Given the description of an element on the screen output the (x, y) to click on. 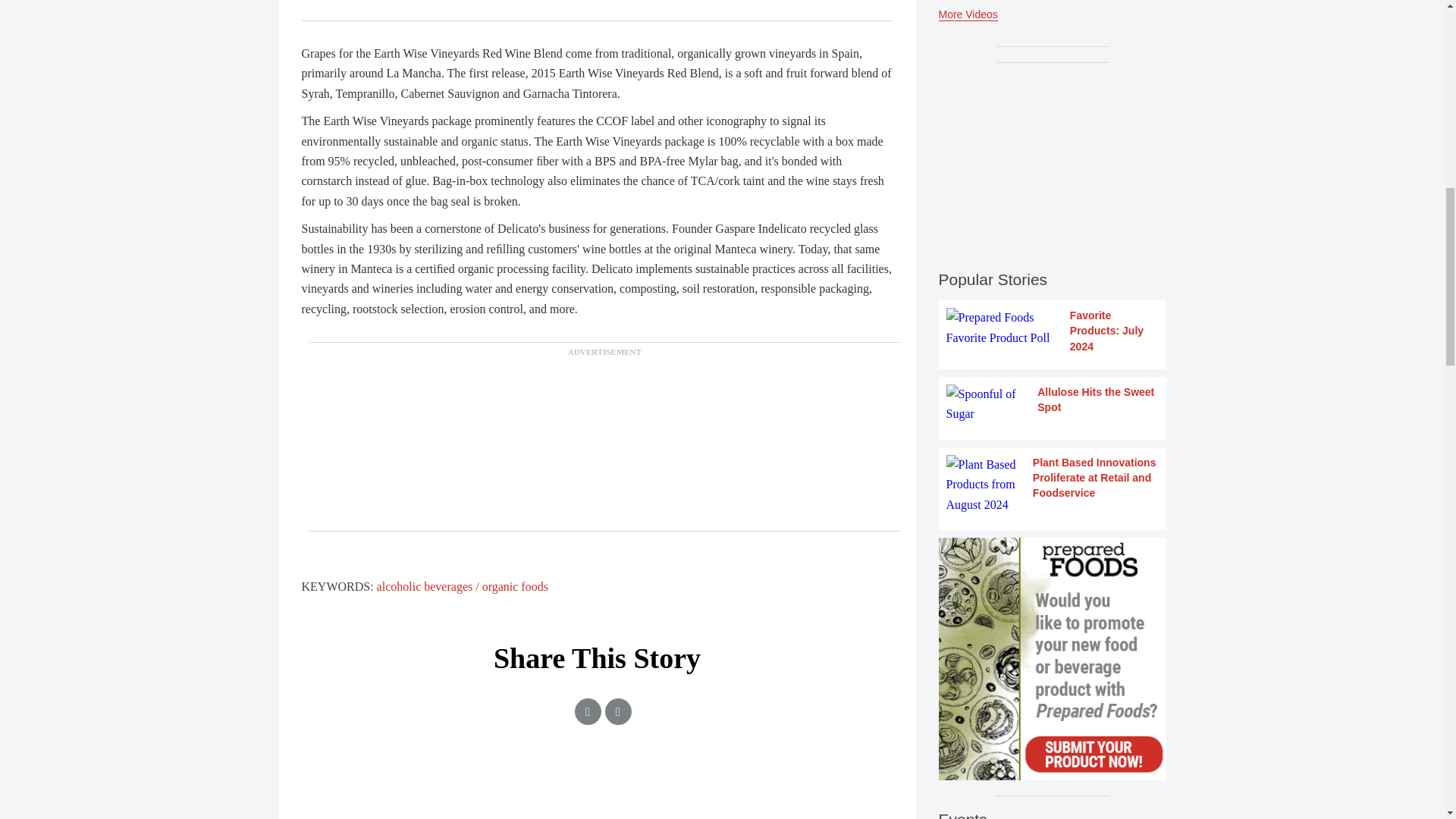
Allulose Hits the Sweet Spot (1052, 404)
Favorite Products: July 2024 (1052, 330)
